Given the description of an element on the screen output the (x, y) to click on. 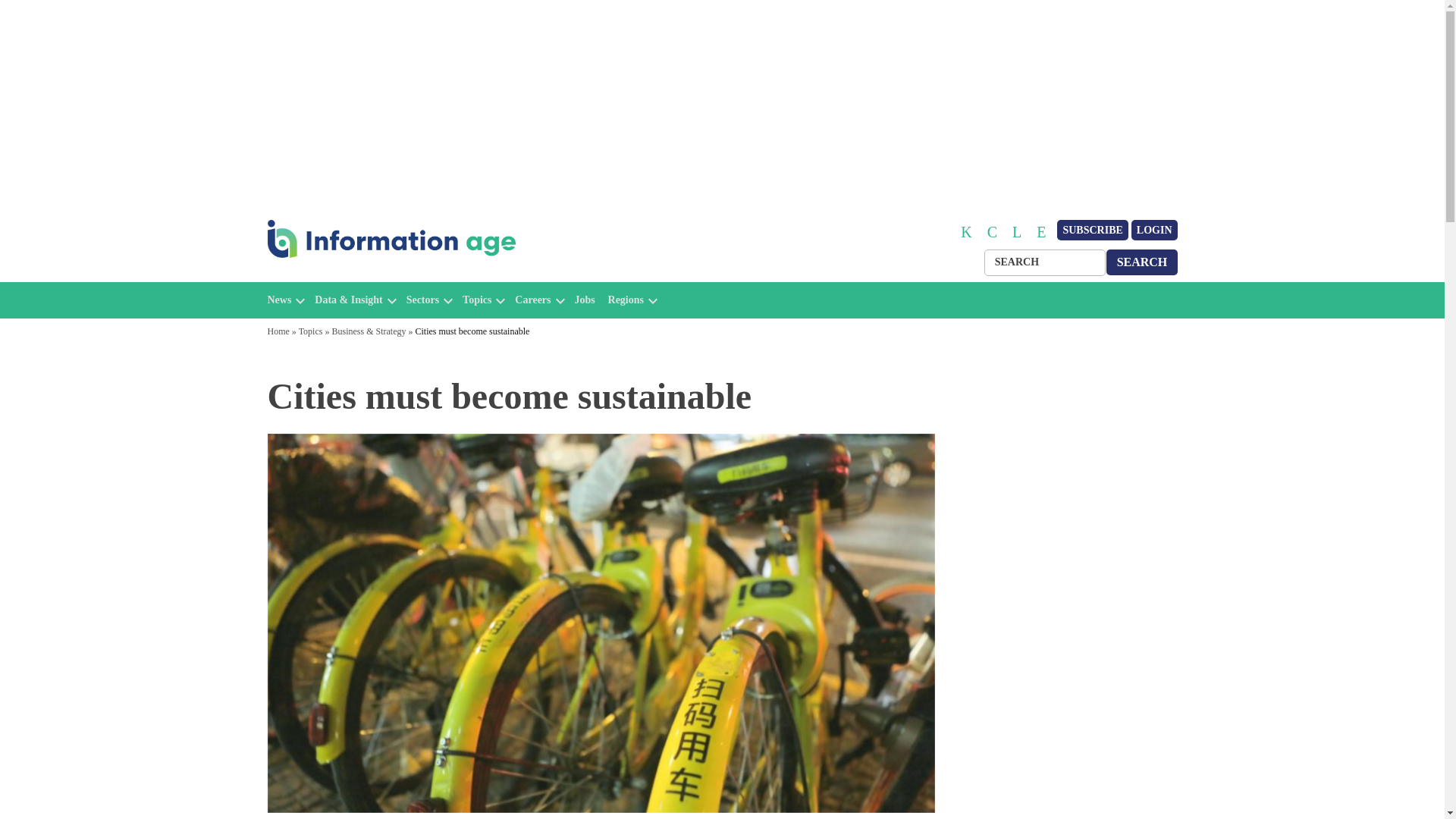
Information Age (331, 275)
Sectors (422, 299)
News (278, 299)
SEARCH (1142, 261)
LOGIN (1154, 230)
SUBSCRIBE (1091, 230)
